Given the description of an element on the screen output the (x, y) to click on. 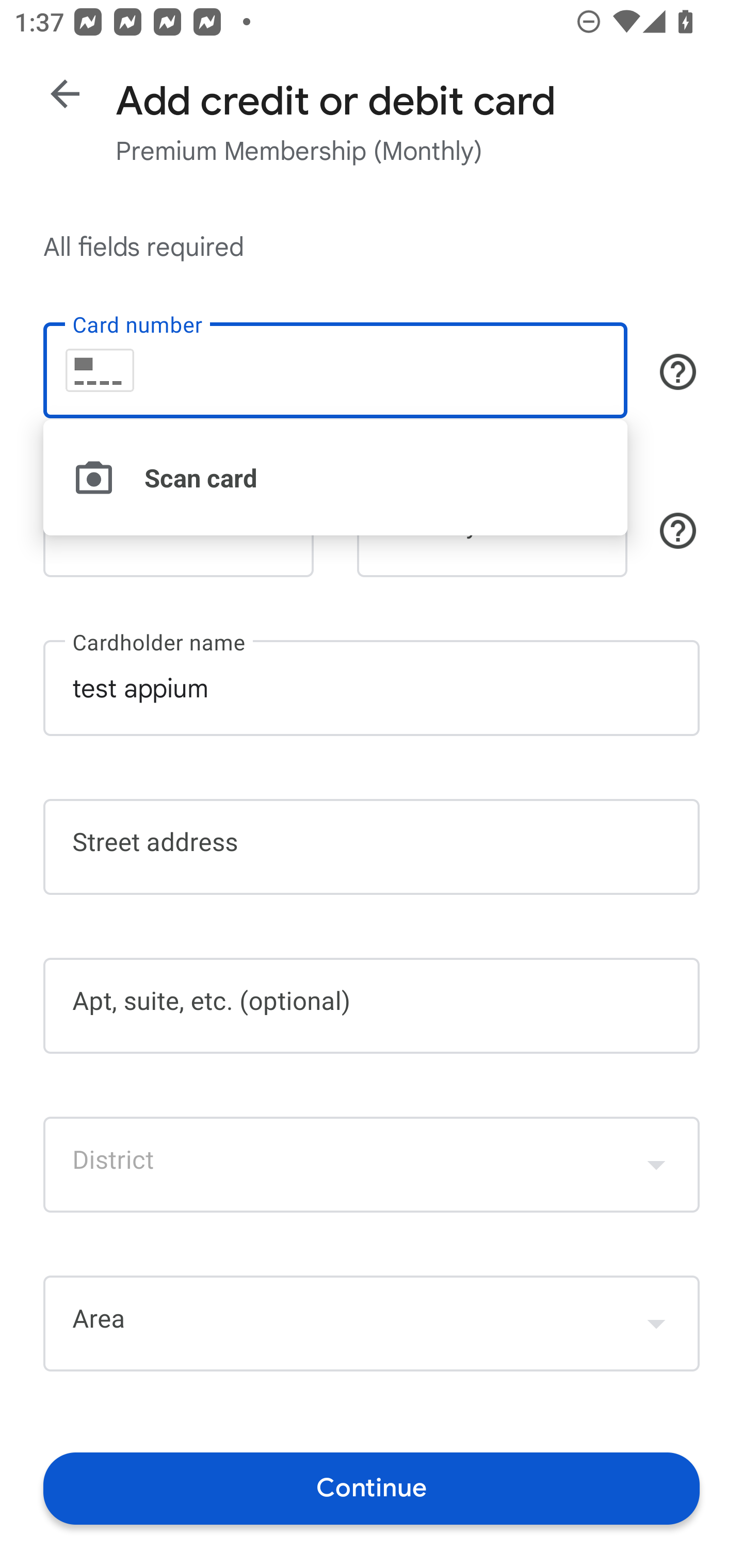
Back (64, 93)
Card number (335, 370)
Button, shows cards that are accepted for payment (677, 371)
Security code help (677, 530)
test appium (371, 687)
Street address (371, 847)
Apt, suite, etc. (optional) (371, 1005)
District (371, 1164)
Show dropdown menu (655, 1164)
Area (371, 1323)
Show dropdown menu (655, 1323)
Continue (371, 1487)
